Given the description of an element on the screen output the (x, y) to click on. 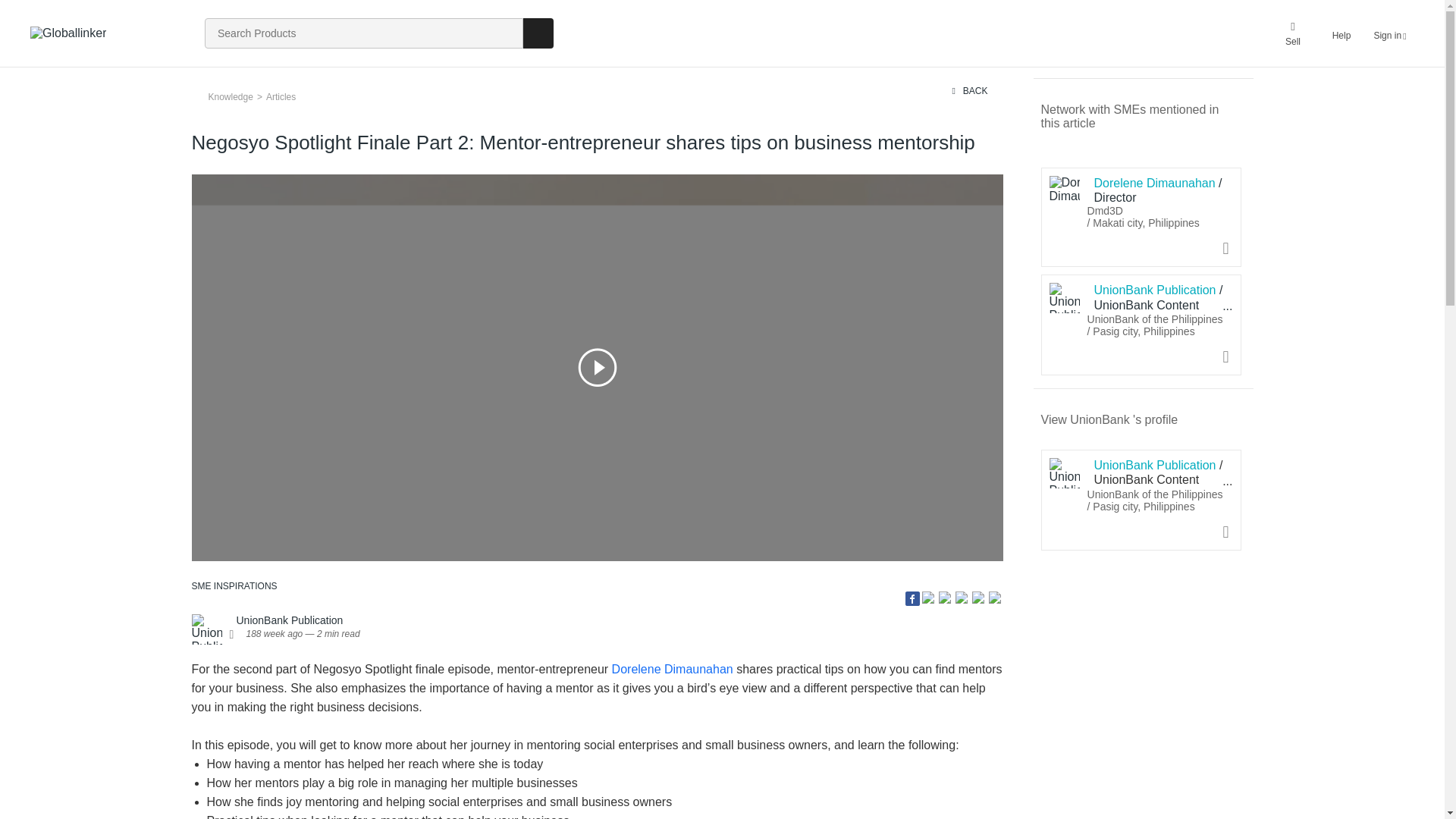
UnionBank Publication (289, 620)
Knowledge (229, 95)
Sign in (1389, 33)
UnionBank Publication (220, 633)
Dorelene Dimaunahan (672, 668)
Articles (278, 95)
SME INSPIRATIONS (233, 585)
UnionBank Publication (1078, 477)
Dorelene Dimaunahan (1083, 189)
Globallinker (68, 33)
